Given the description of an element on the screen output the (x, y) to click on. 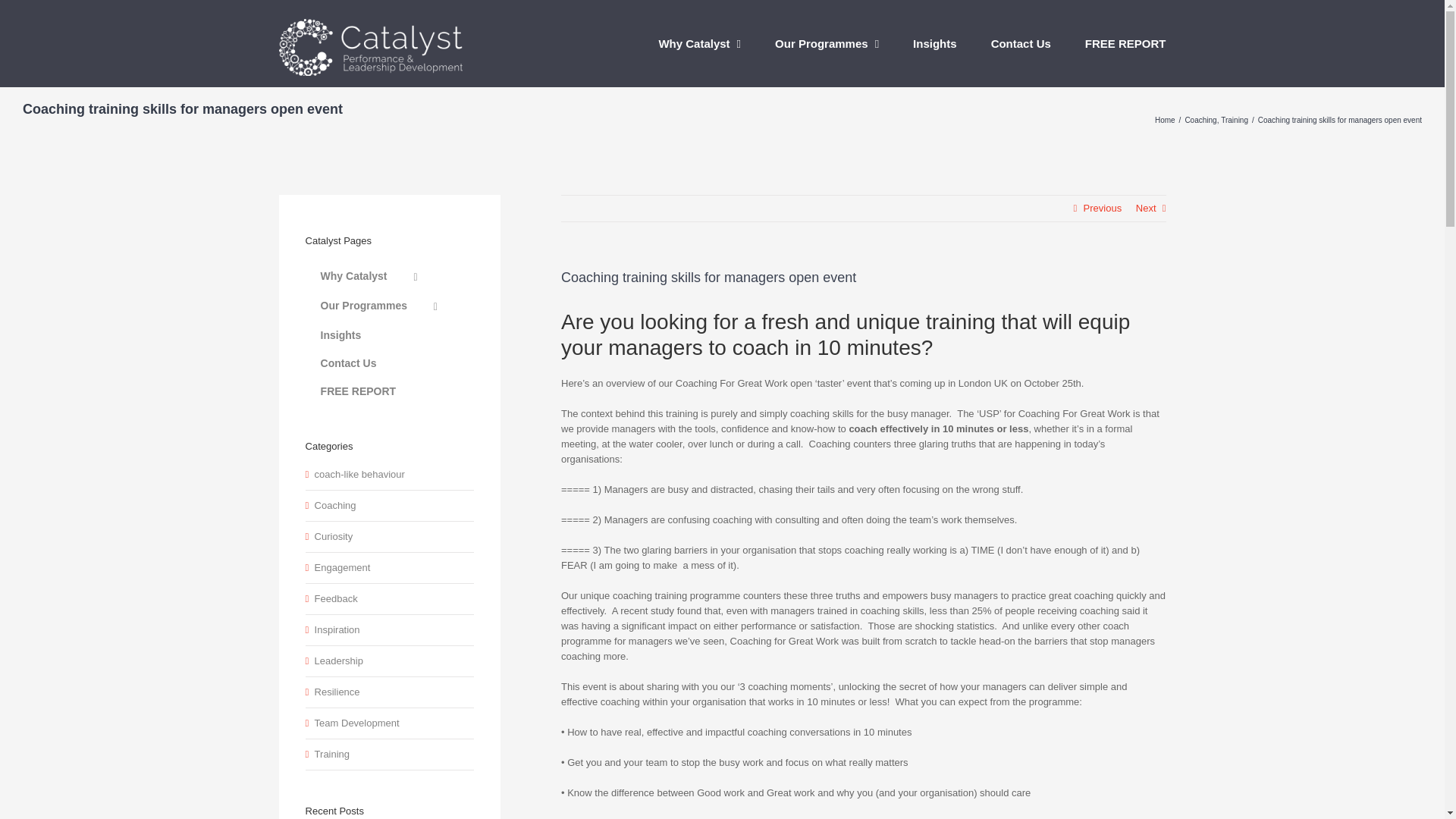
Training (1234, 119)
FREE REPORT (1125, 41)
twitter (707, 780)
Why Catalyst (699, 41)
Privacy Policy (950, 716)
Home (1164, 119)
Our Programmes (826, 41)
Previous (1102, 208)
Coaching (1200, 119)
